Given the description of an element on the screen output the (x, y) to click on. 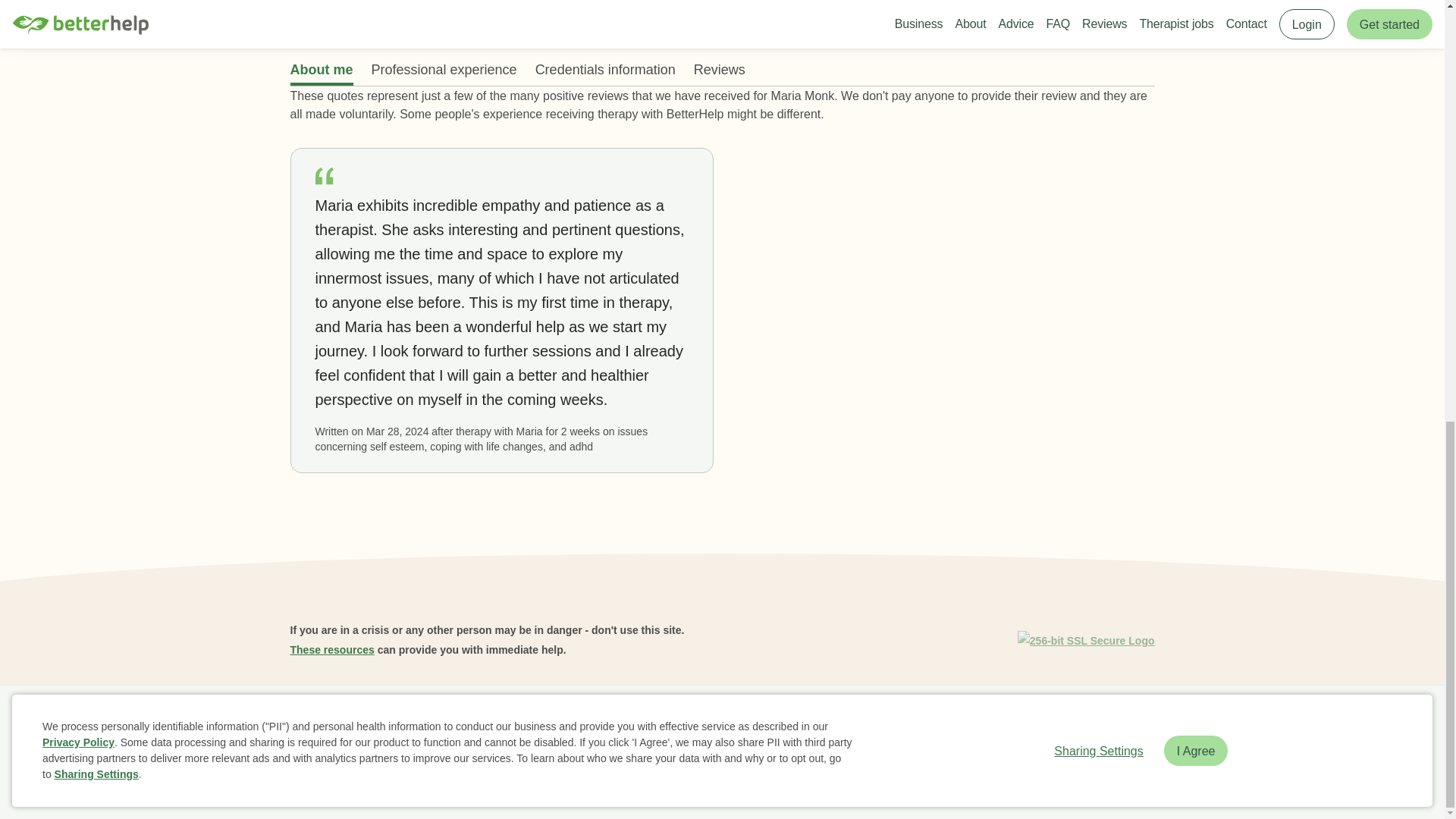
Business (365, 721)
Find a Therapist (692, 721)
About (419, 721)
Careers (618, 721)
FAQ (462, 721)
Online Therapy (784, 721)
Advice (564, 721)
These resources (331, 649)
For Therapists (928, 721)
Home (311, 721)
Reviews (510, 721)
Contact (857, 721)
